Given the description of an element on the screen output the (x, y) to click on. 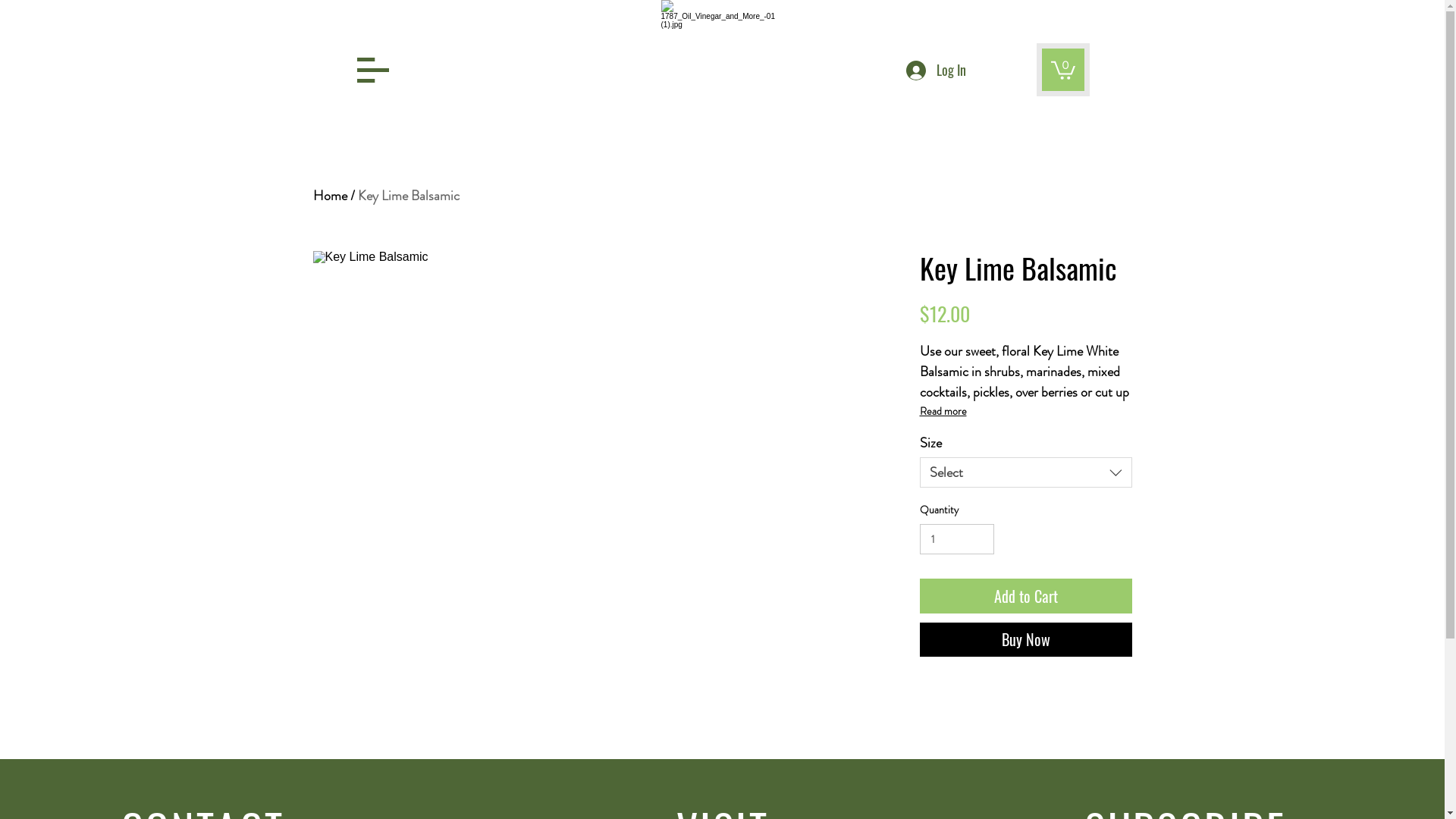
Home Element type: text (329, 195)
Buy Now Element type: text (1025, 622)
Select Element type: text (1025, 455)
Log In Element type: text (934, 70)
Add to Cart Element type: text (1025, 578)
0 Element type: text (1063, 69)
